Given the description of an element on the screen output the (x, y) to click on. 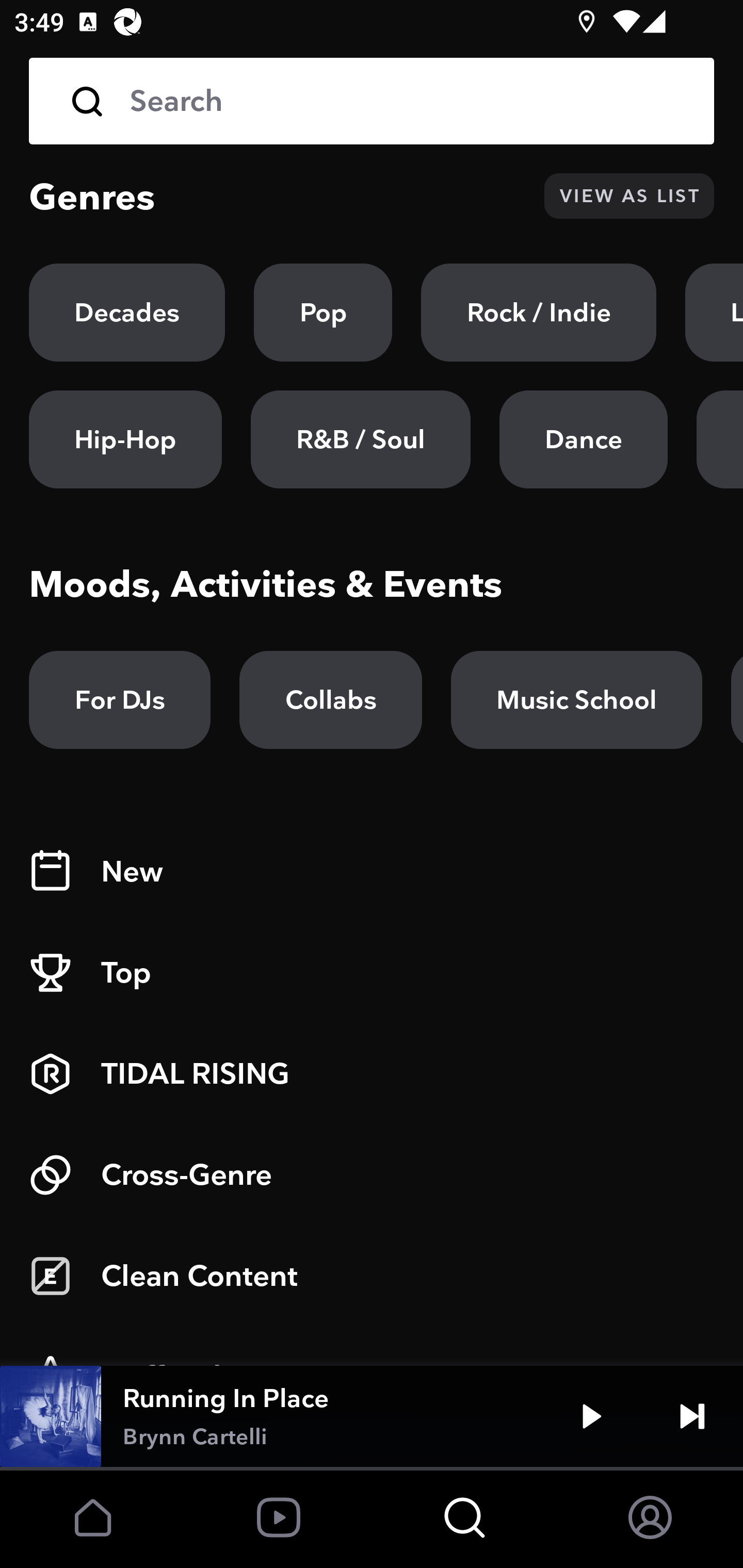
Search (371, 101)
Search (407, 100)
VIEW AS LIST (629, 195)
Decades (126, 312)
Pop (323, 312)
Rock / Indie (538, 312)
Hip-Hop (125, 439)
R&B / Soul (360, 439)
Dance (583, 439)
For DJs (119, 699)
Collabs (330, 699)
Music School (576, 699)
New (371, 871)
Top (371, 972)
TIDAL RISING (371, 1073)
Cross-Genre (371, 1175)
Clean Content (371, 1276)
Running In Place Brynn Cartelli Play (371, 1416)
Play (590, 1416)
